Given the description of an element on the screen output the (x, y) to click on. 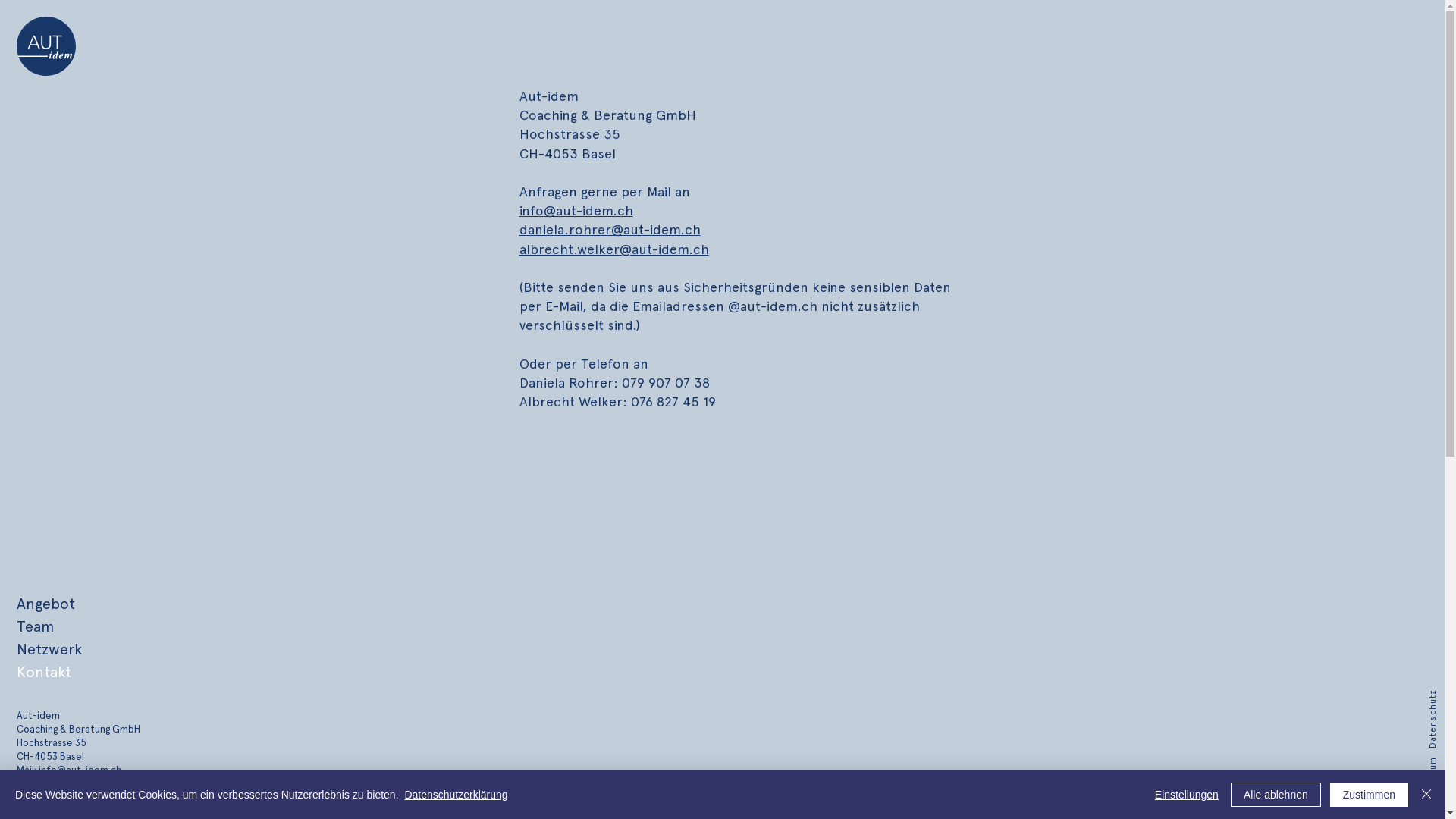
Zustimmen Element type: text (1369, 794)
Alle ablehnen Element type: text (1275, 794)
Kontakt Element type: text (43, 671)
Team Element type: text (34, 626)
daniela.rohrer@aut-idem.ch Element type: text (608, 229)
albrecht.welker@aut-idem.ch Element type: text (613, 249)
Angebot Element type: text (45, 603)
Netzwerk Element type: text (48, 648)
076 827 45 19 Element type: text (125, 784)
info@aut-idem.ch Element type: text (575, 210)
079 907 07 38 Element type: text (119, 797)
info@aut-idem.ch Element type: text (79, 769)
